Given the description of an element on the screen output the (x, y) to click on. 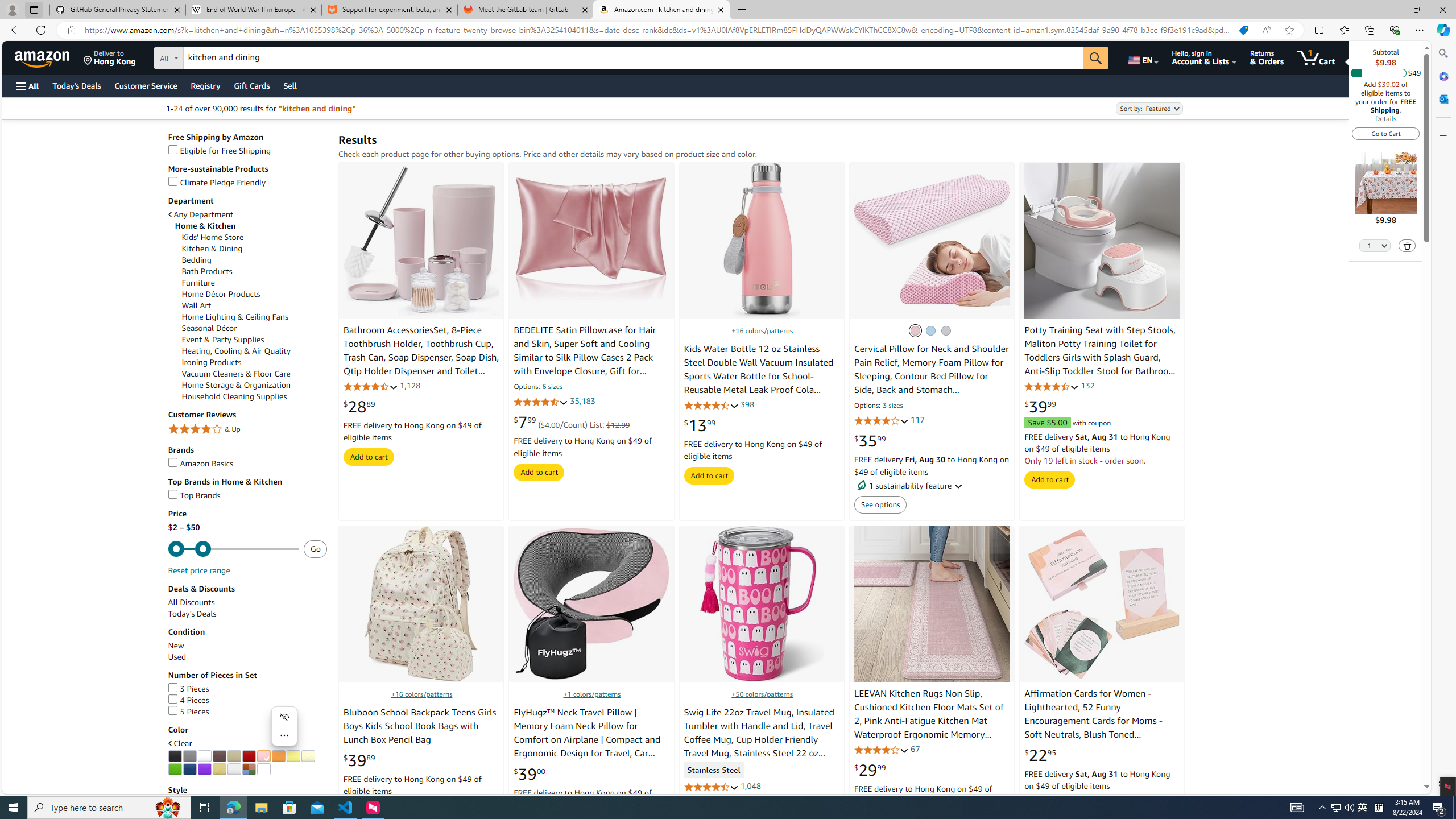
Details (1385, 118)
AutomationID: p_n_feature_twenty_browse-bin/3254112011 (234, 769)
Deliver to Hong Kong (109, 57)
Wall Art (254, 305)
Add to cart (1049, 479)
$39.99 (1040, 406)
Vacuum Cleaners & Floor Care (254, 373)
Wall Art (196, 305)
Pink (915, 330)
Vacuum Cleaners & Floor Care (236, 373)
